Given the description of an element on the screen output the (x, y) to click on. 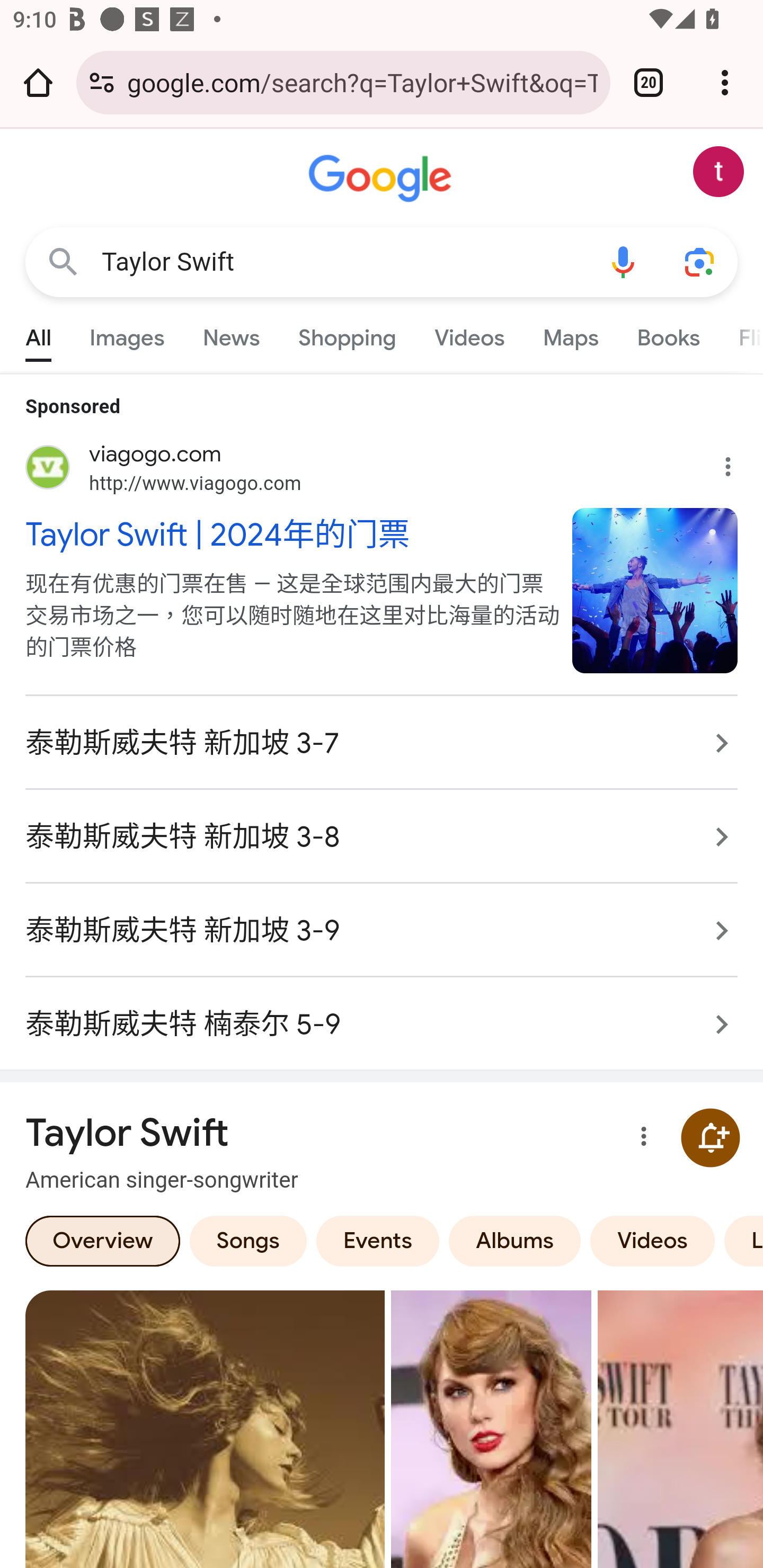
Open the home page (38, 82)
Connection is secure (101, 82)
Switch or close tabs (648, 82)
Customize and control Google Chrome (724, 82)
Google (381, 179)
Google Search (63, 262)
Search using your camera or photos (699, 262)
Taylor Swift (343, 261)
Images (127, 333)
News (231, 333)
Shopping (347, 333)
Videos (469, 333)
Maps (570, 333)
Books (668, 333)
Why this ad? (738, 462)
Image from viagogo.com (654, 590)
Taylor Swift | 2024年的门票 (289, 533)
泰勒斯威夫特 新加坡 3-7 (381, 743)
泰勒斯威夫特 新加坡 3-8 (381, 837)
泰勒斯威夫特 新加坡 3-9 (381, 930)
泰勒斯威夫特 楠泰尔 5-9 (381, 1014)
Get notifications about Taylor Swift (710, 1137)
More options (640, 1138)
Overview (103, 1240)
Songs (247, 1240)
Events (376, 1240)
Albums (514, 1240)
Videos (652, 1240)
Taylor Swift News - Us Weekly (490, 1428)
